Given the description of an element on the screen output the (x, y) to click on. 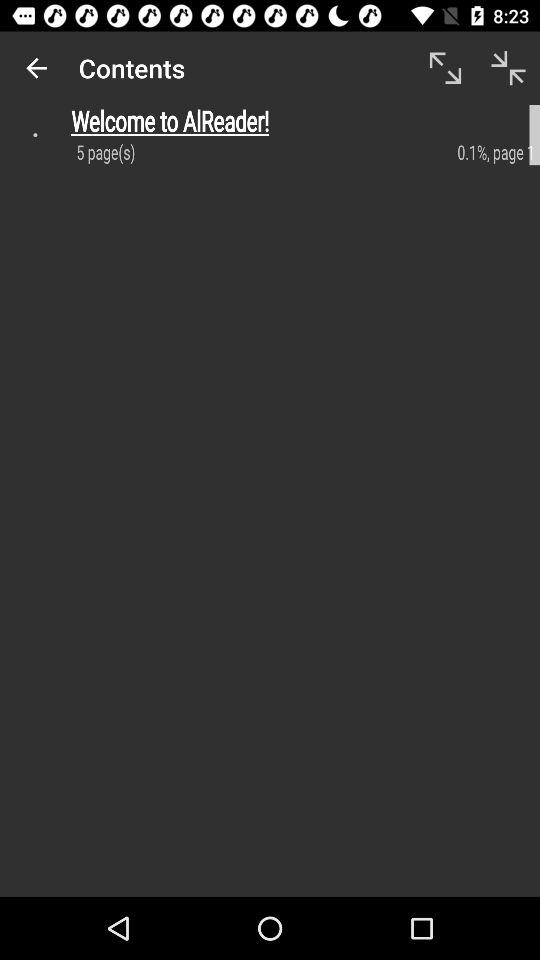
tap the app to the left of contents app (36, 68)
